Given the description of an element on the screen output the (x, y) to click on. 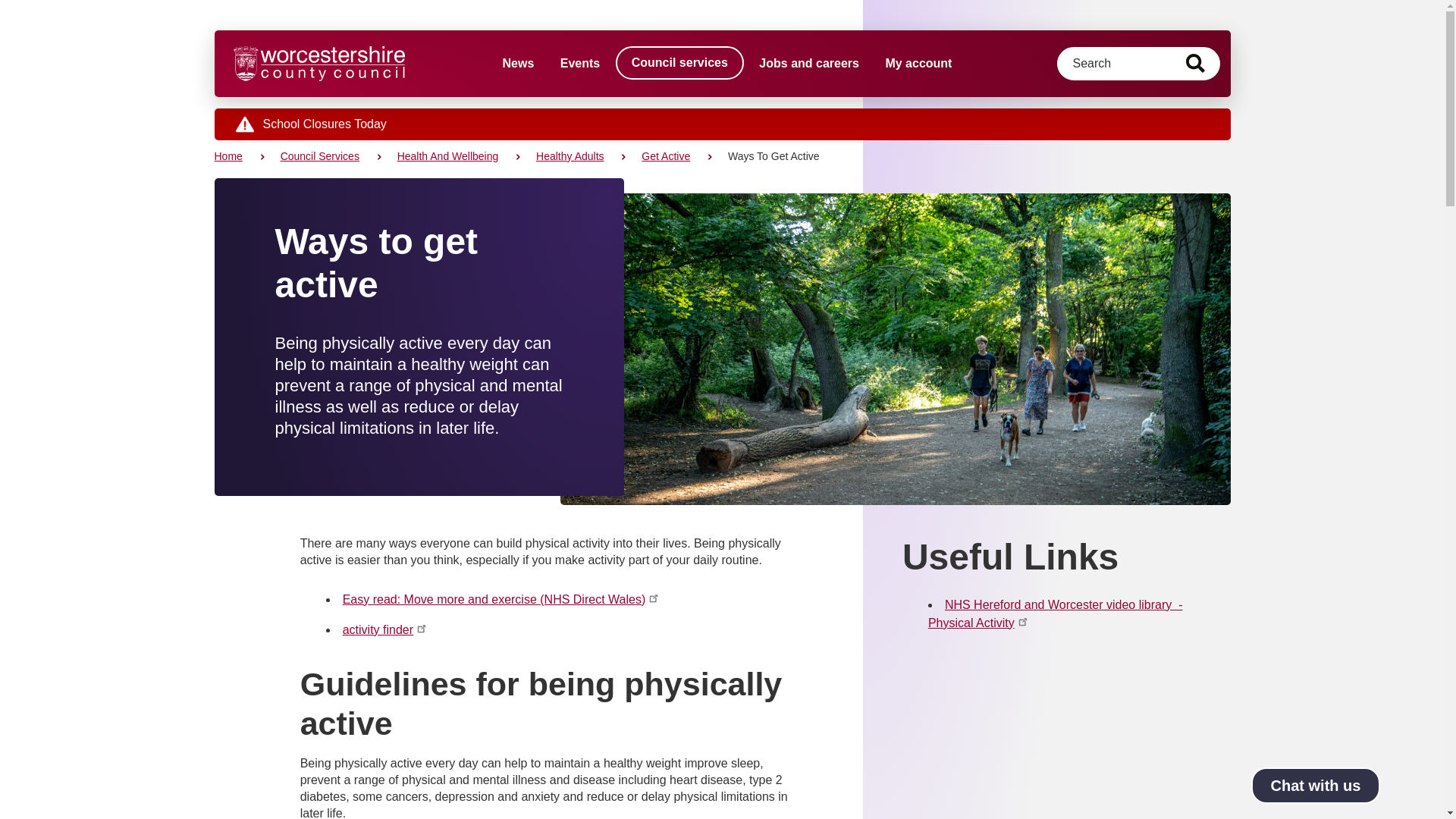
News (518, 63)
My account (918, 63)
Search (1196, 63)
Council services (679, 62)
Events (580, 63)
Search (1196, 63)
Jobs and careers (808, 63)
